Given the description of an element on the screen output the (x, y) to click on. 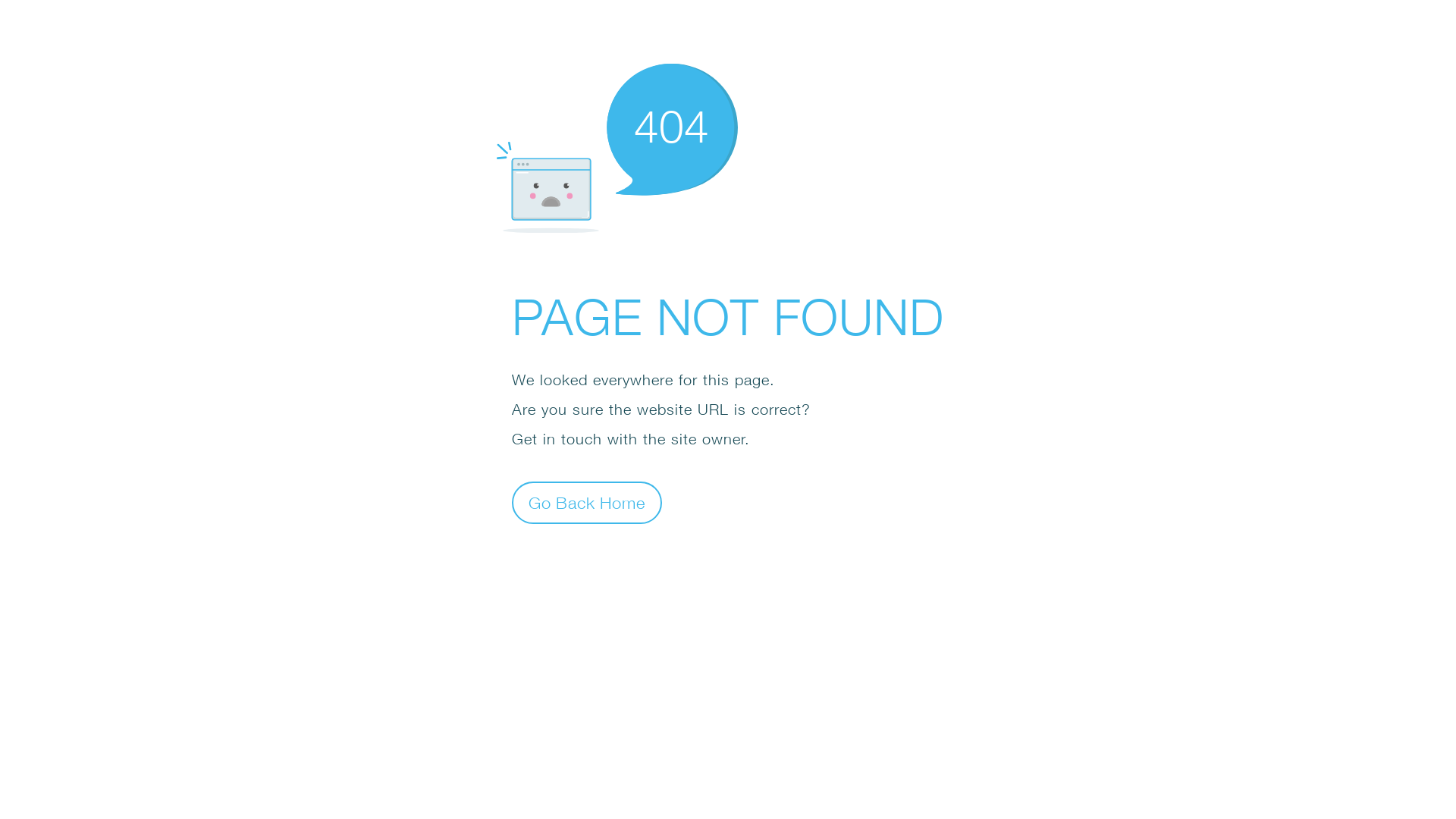
Go Back Home Element type: text (586, 502)
